Given the description of an element on the screen output the (x, y) to click on. 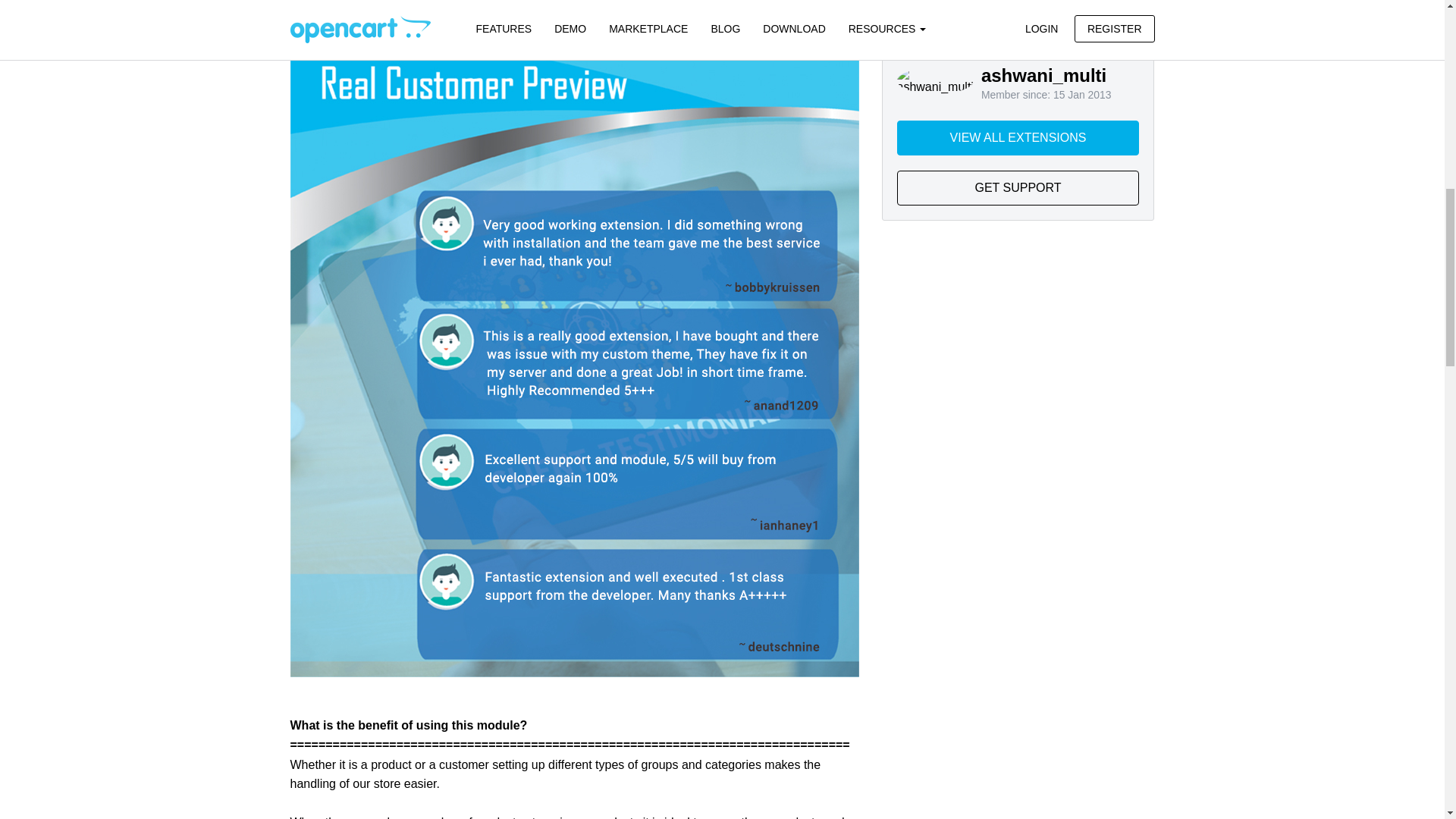
Share (1017, 5)
GET SUPPORT (1017, 187)
VIEW ALL EXTENSIONS (1017, 137)
